Given the description of an element on the screen output the (x, y) to click on. 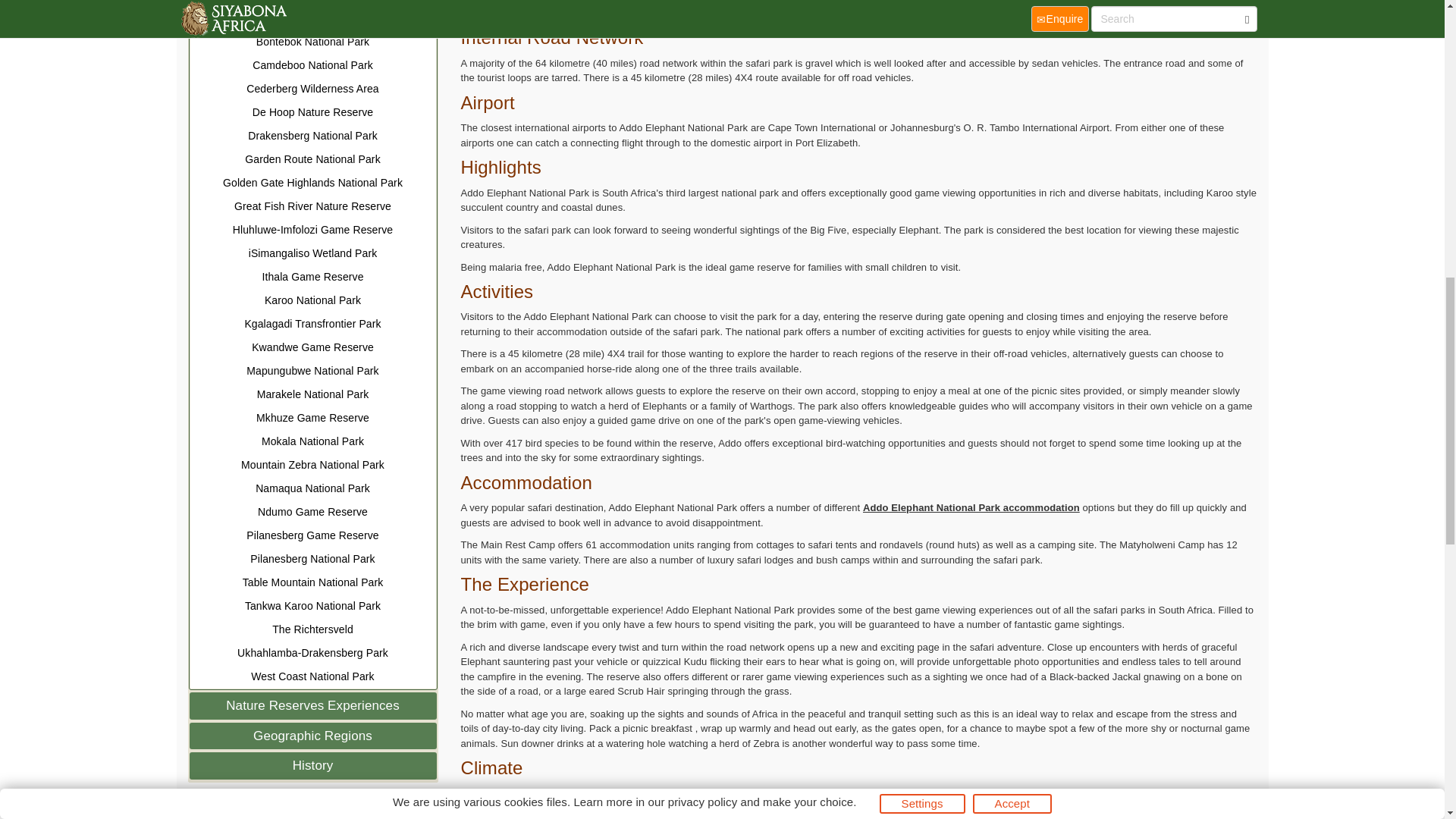
iSimangaliso Wetland Park (312, 253)
Augrabies Falls National Park (312, 3)
Camdeboo National Park (312, 65)
Golden Gate Highlands National Park (312, 182)
Karoo National Park (312, 300)
Hluhluwe-Imfolozi Game Reserve (312, 229)
Kgalagadi Transfrontier Park (312, 323)
Ithala Game Reserve (312, 277)
Garden Route National Park (312, 159)
Kwandwe Game Reserve (312, 347)
Great Fish River Nature Reserve (312, 206)
Bontebok National Park (312, 42)
Drakensberg National Park (312, 136)
Mkhuze Game Reserve (312, 417)
Marakele National Park (312, 394)
